Given the description of an element on the screen output the (x, y) to click on. 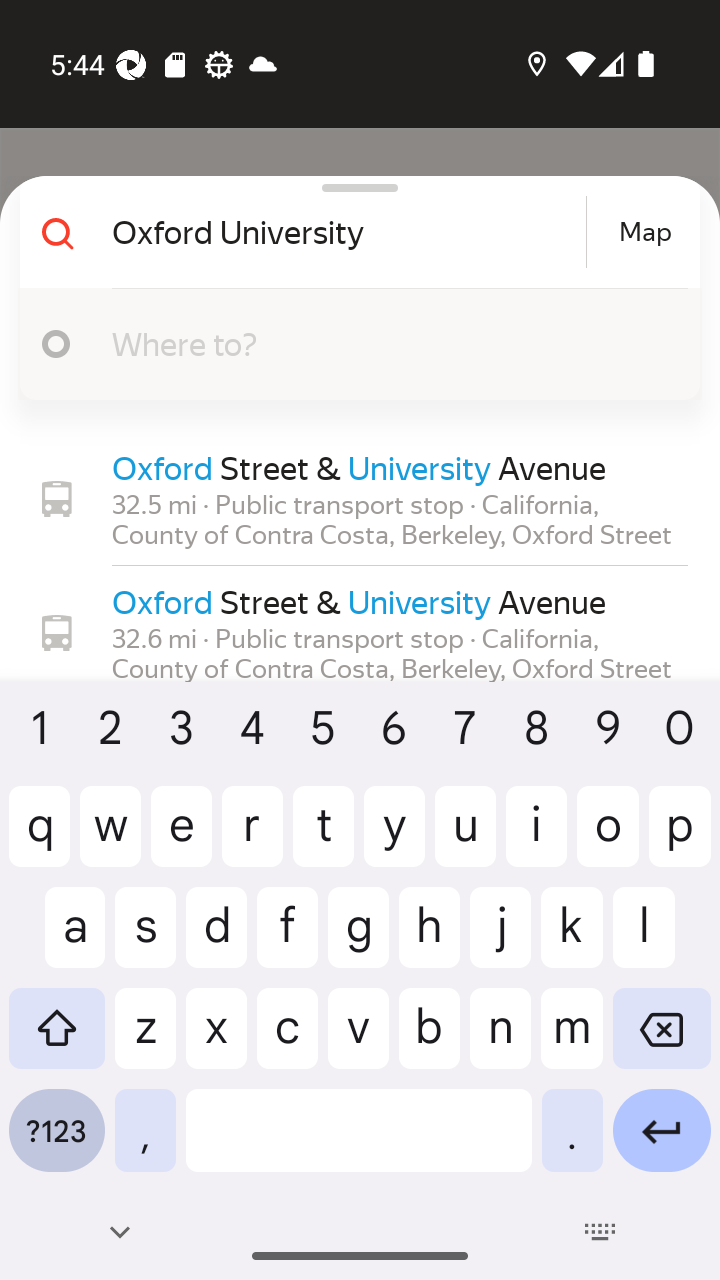
Oxford University Map Map (352, 232)
Map (645, 232)
Oxford University (346, 232)
Where to? (352, 343)
Where to? (390, 343)
